Given the description of an element on the screen output the (x, y) to click on. 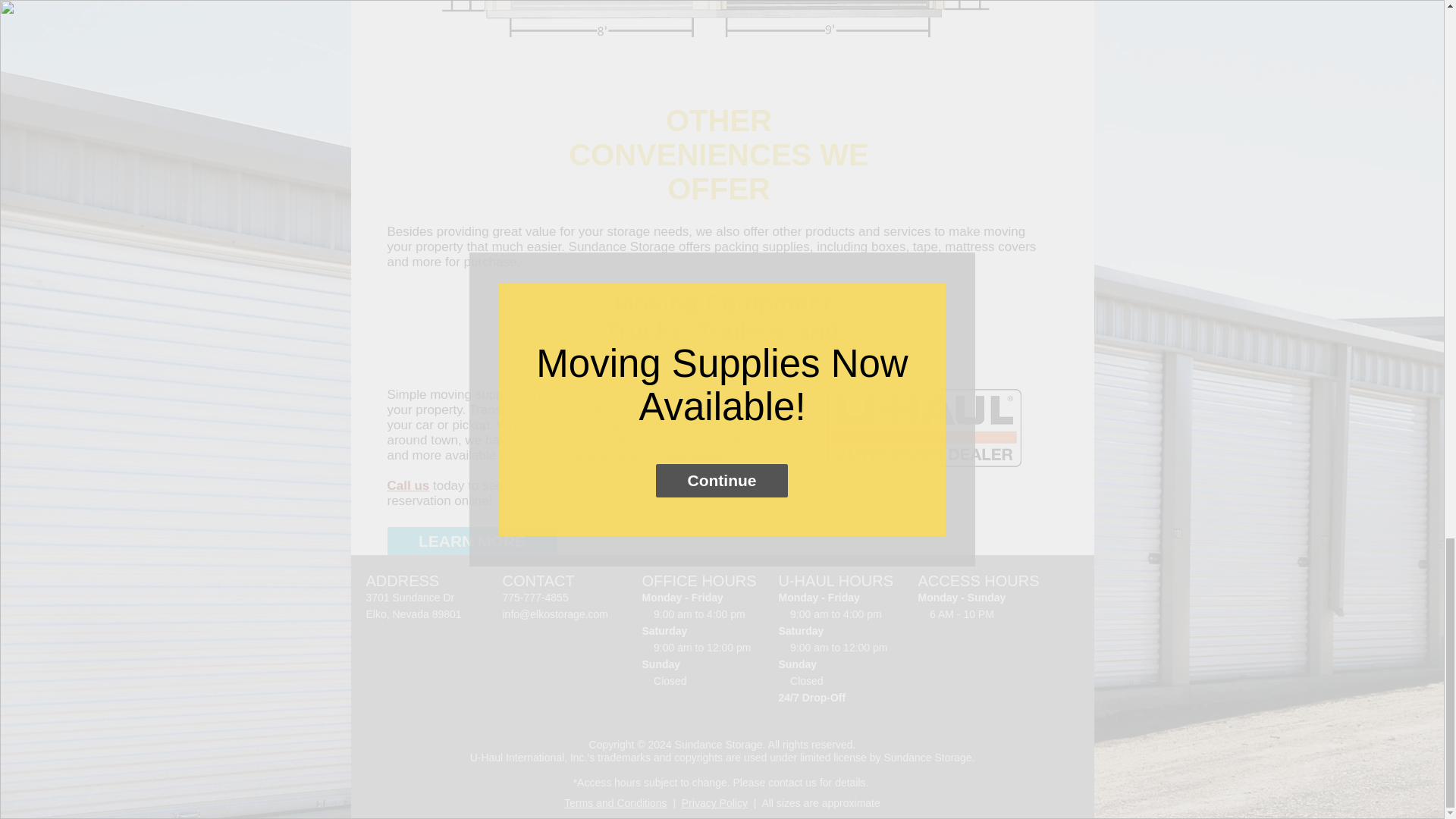
Terms and Conditions (615, 802)
Privacy Policy (714, 802)
Call us (408, 485)
LEARN MORE (471, 541)
Industry Comparison.png (718, 23)
Authorized U-Haul Dealer (652, 454)
